Given the description of an element on the screen output the (x, y) to click on. 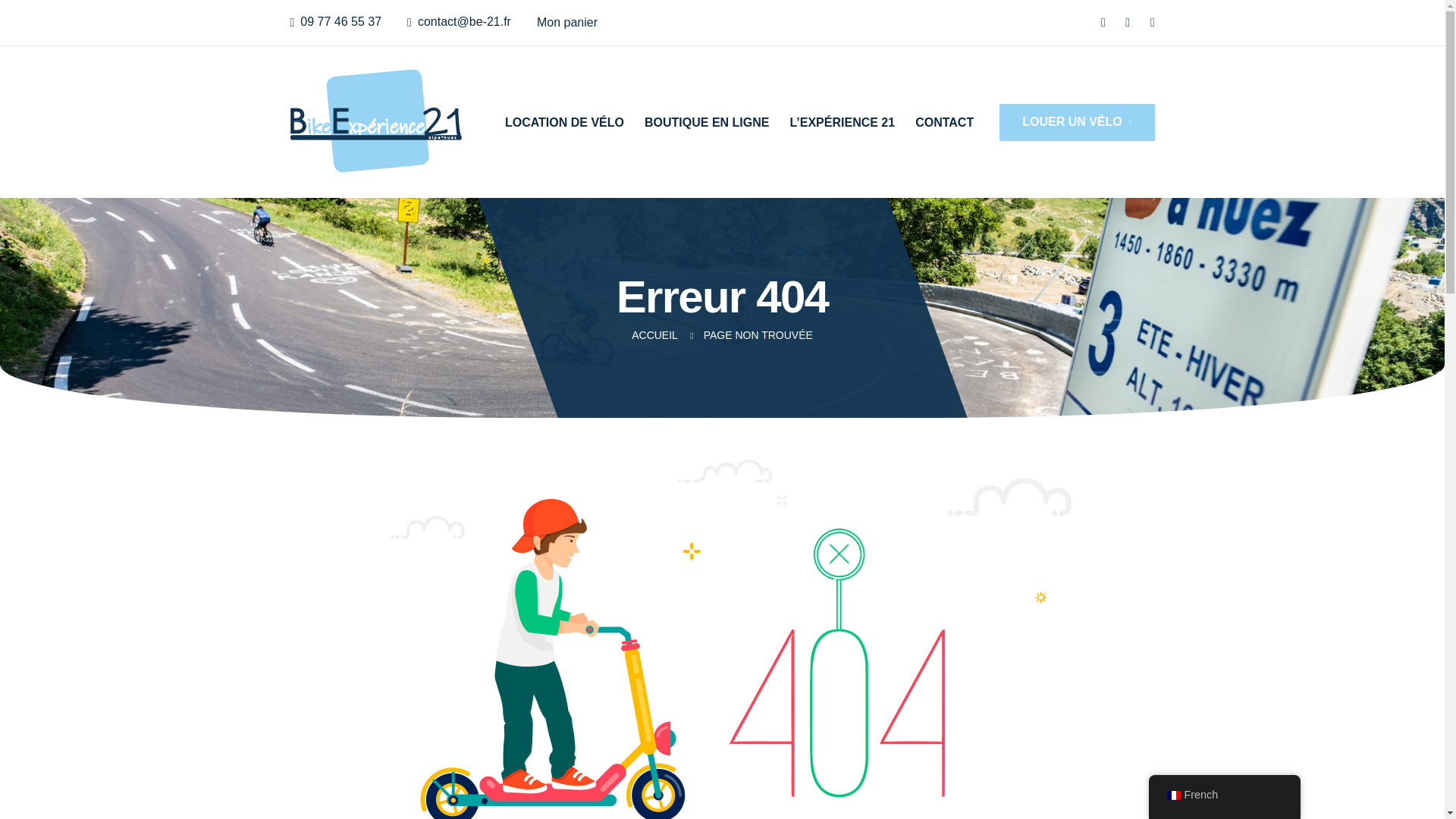
Mon panier (566, 21)
BOUTIQUE EN LIGNE (706, 121)
09 77 46 55 37 (340, 21)
ACCUEIL (654, 335)
Accueil (654, 335)
CONTACT (944, 121)
French (1172, 795)
